Given the description of an element on the screen output the (x, y) to click on. 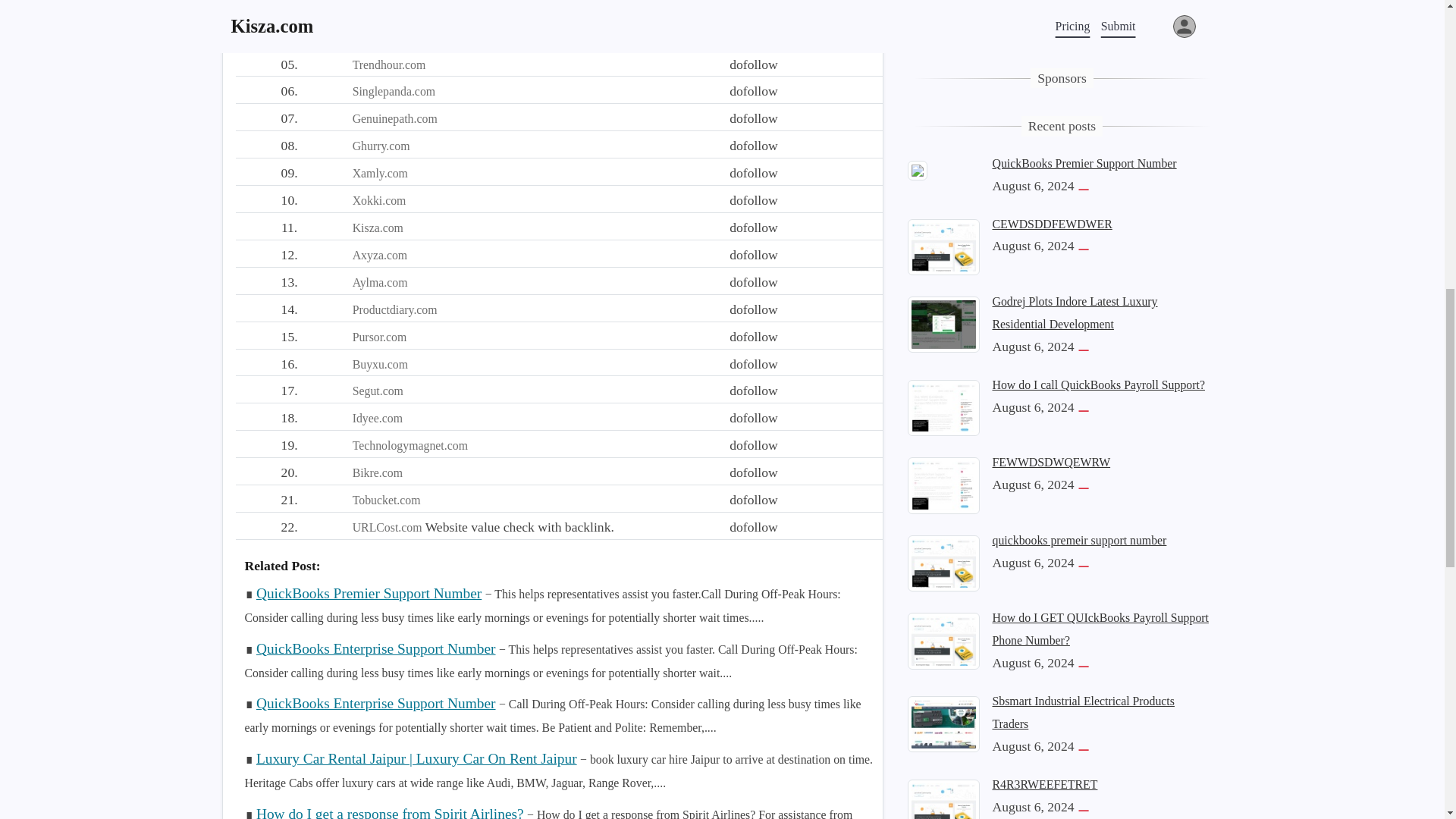
Axyza.com (379, 254)
Buyxu.com (379, 364)
Technologymagnet.com (409, 445)
Kisza.com (377, 227)
Singlepanda.com (393, 91)
Trendhour.com (389, 64)
QuickBooks Enterprise Support Number (376, 703)
QuickBooks Enterprise Support Number (376, 648)
Kaancy.com (382, 10)
Aylma.com (379, 282)
